Given the description of an element on the screen output the (x, y) to click on. 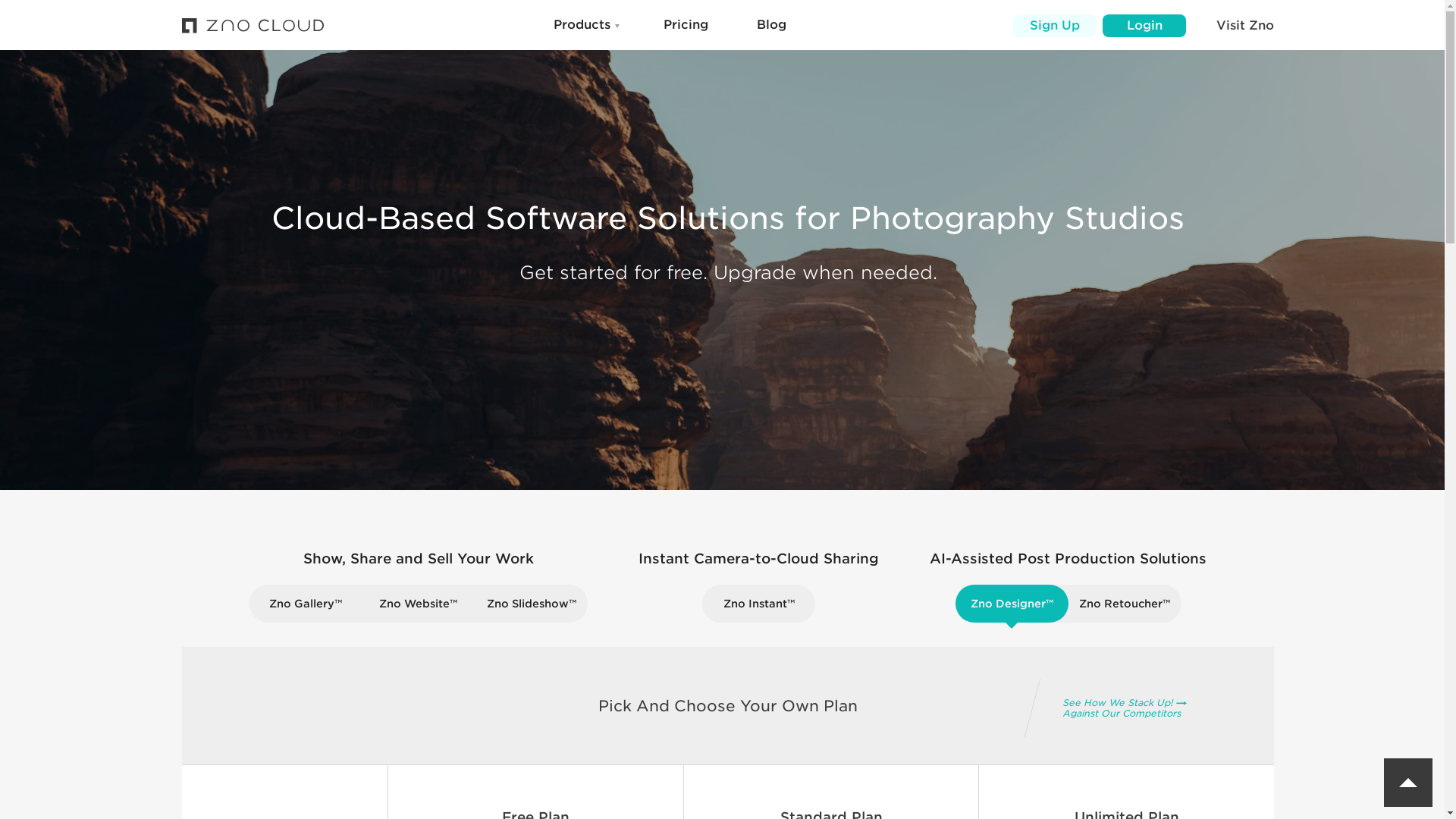
Pricing (684, 24)
Blog (771, 24)
ZNO CLOUD (254, 25)
Products (581, 24)
Login (1144, 25)
Visit Zno (1244, 25)
Sign Up (1054, 25)
